Given the description of an element on the screen output the (x, y) to click on. 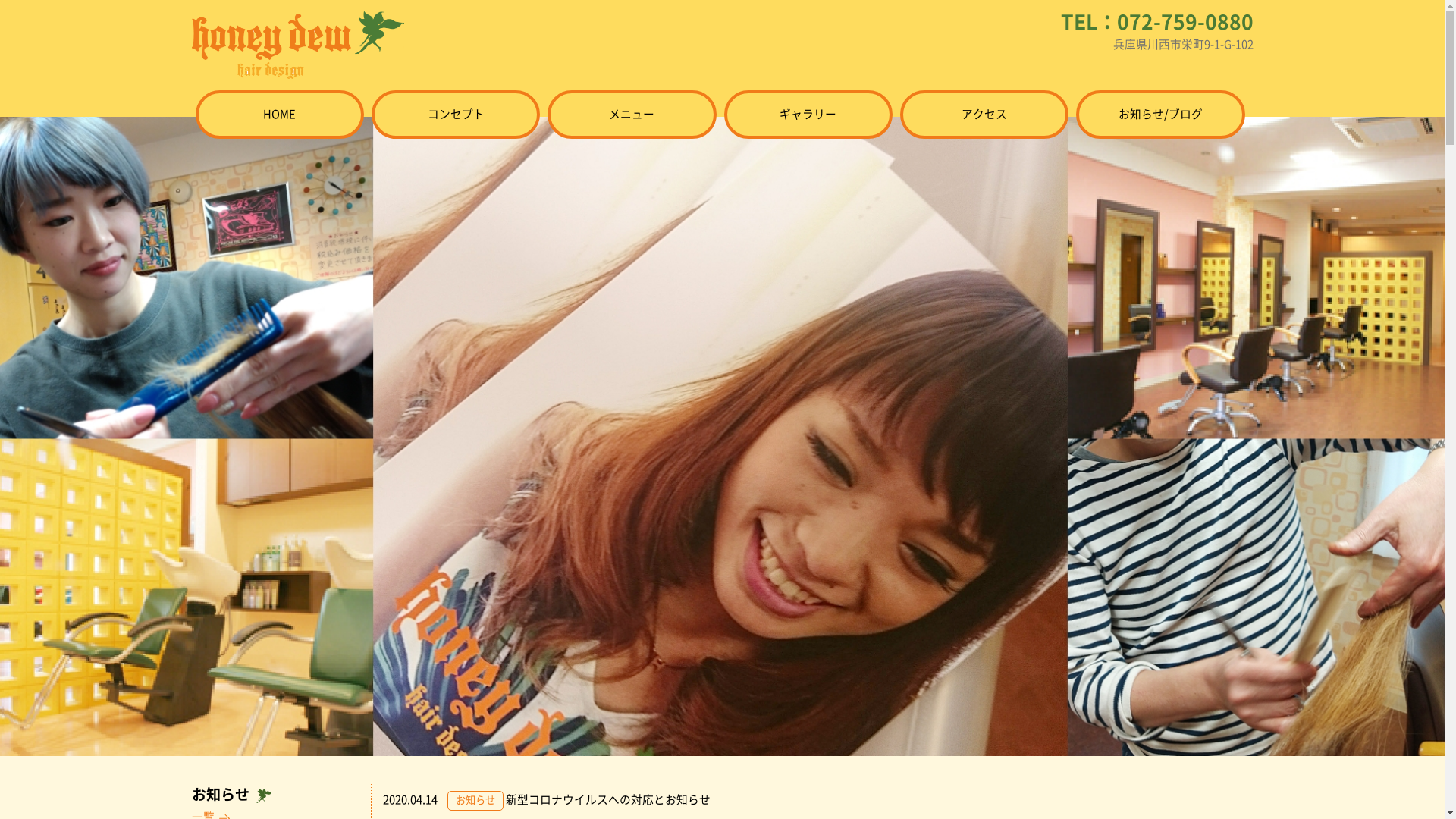
HOME Element type: text (279, 114)
